Given the description of an element on the screen output the (x, y) to click on. 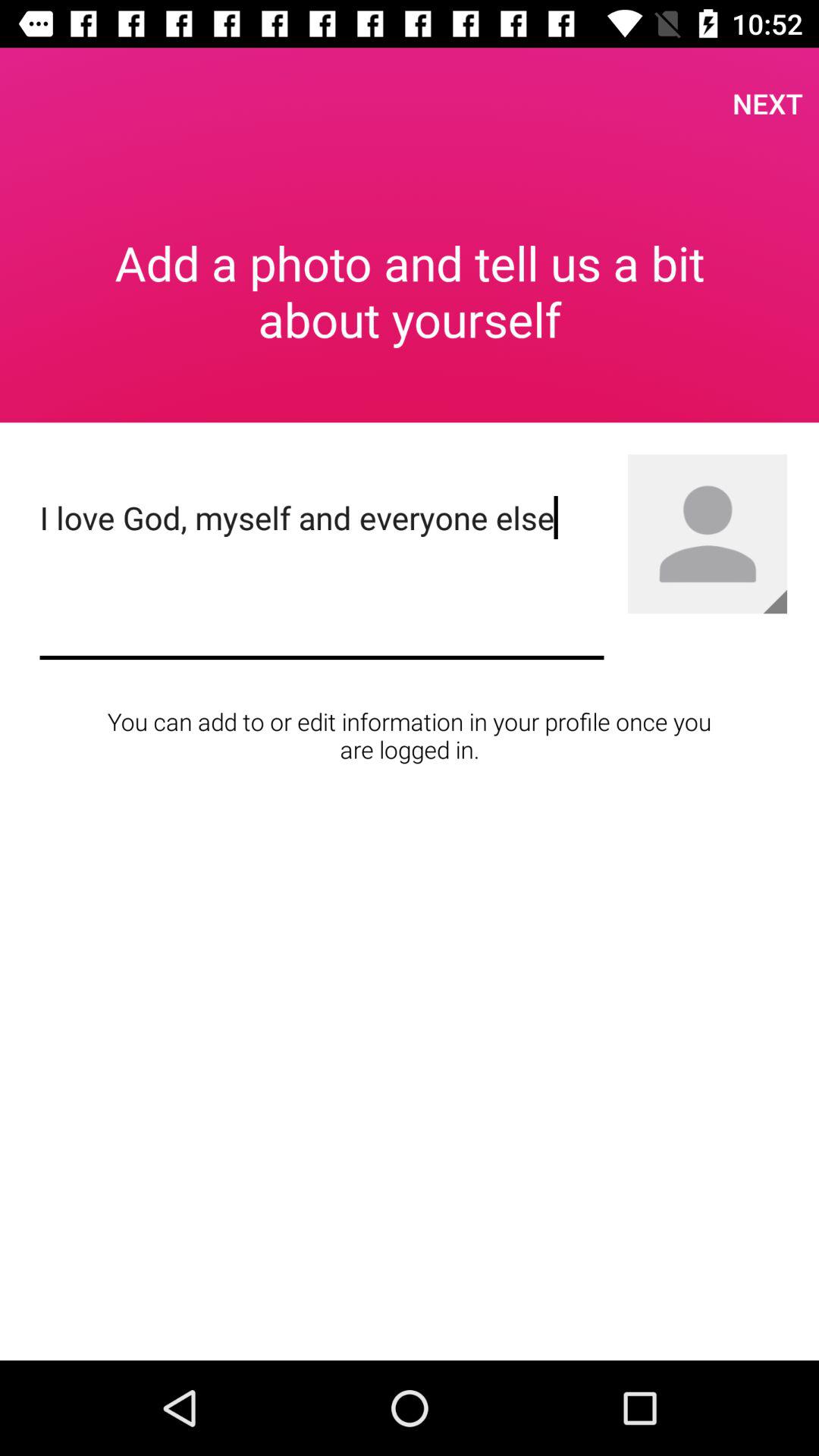
upload picture (775, 601)
